Given the description of an element on the screen output the (x, y) to click on. 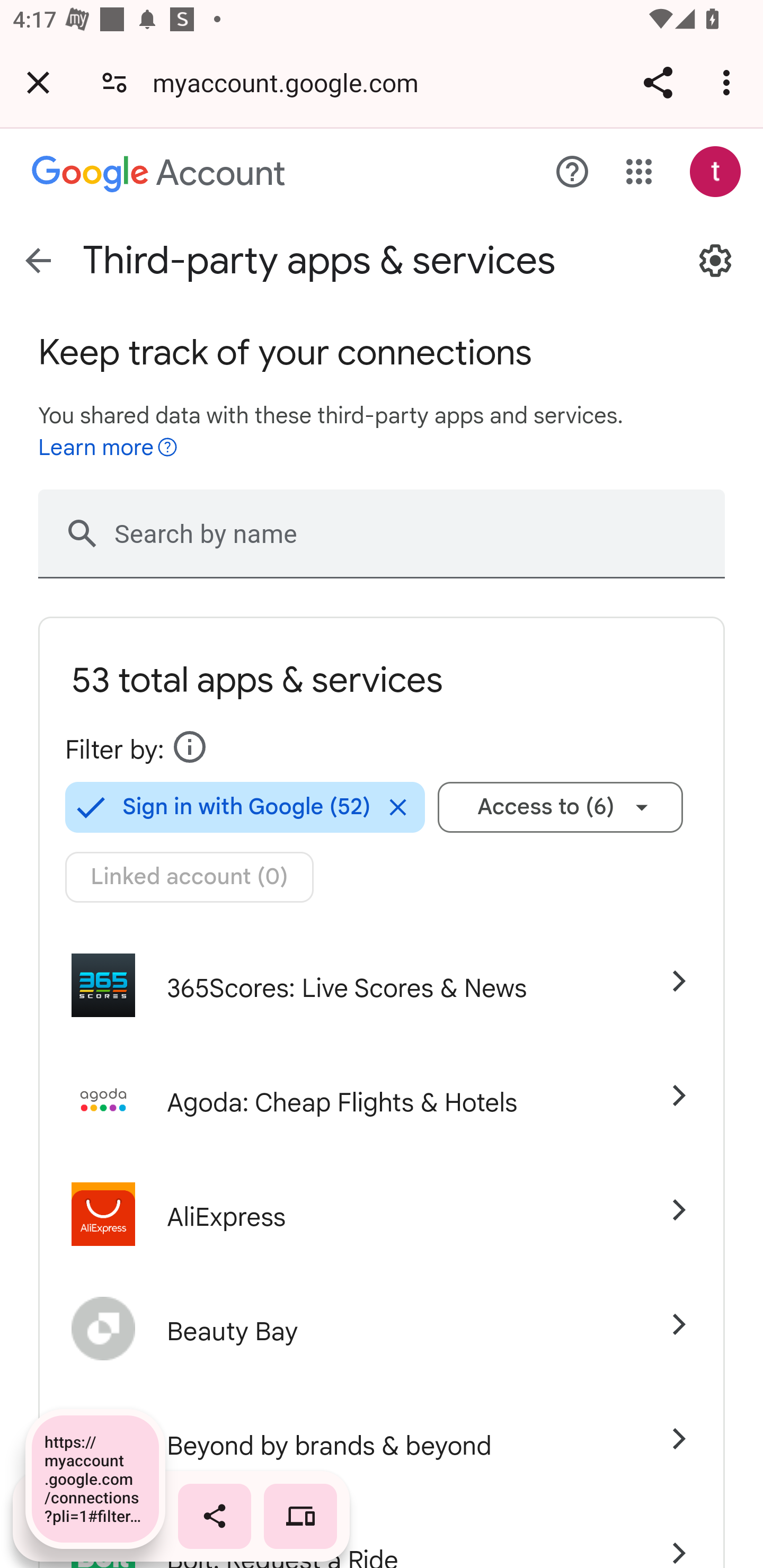
Close tab (38, 82)
Share (657, 82)
Customize and control Google Chrome (729, 82)
Connection is secure (114, 81)
myaccount.google.com (291, 81)
Help (572, 171)
Google apps (638, 171)
Google Account settings Account (159, 174)
Back (38, 260)
Sign-in settings for third parties (715, 260)
Learn more about filters (189, 746)
Sign in with Google (52) (218, 807)
Remove Sign in with Google filter (397, 807)
Linked account (0) (189, 877)
365Scores: Live Scores & News (381, 985)
Agoda: Cheap Flights & Hotels (381, 1099)
AliExpress (381, 1214)
Beauty Bay (381, 1328)
Beyond by brands & beyond (381, 1443)
